Given the description of an element on the screen output the (x, y) to click on. 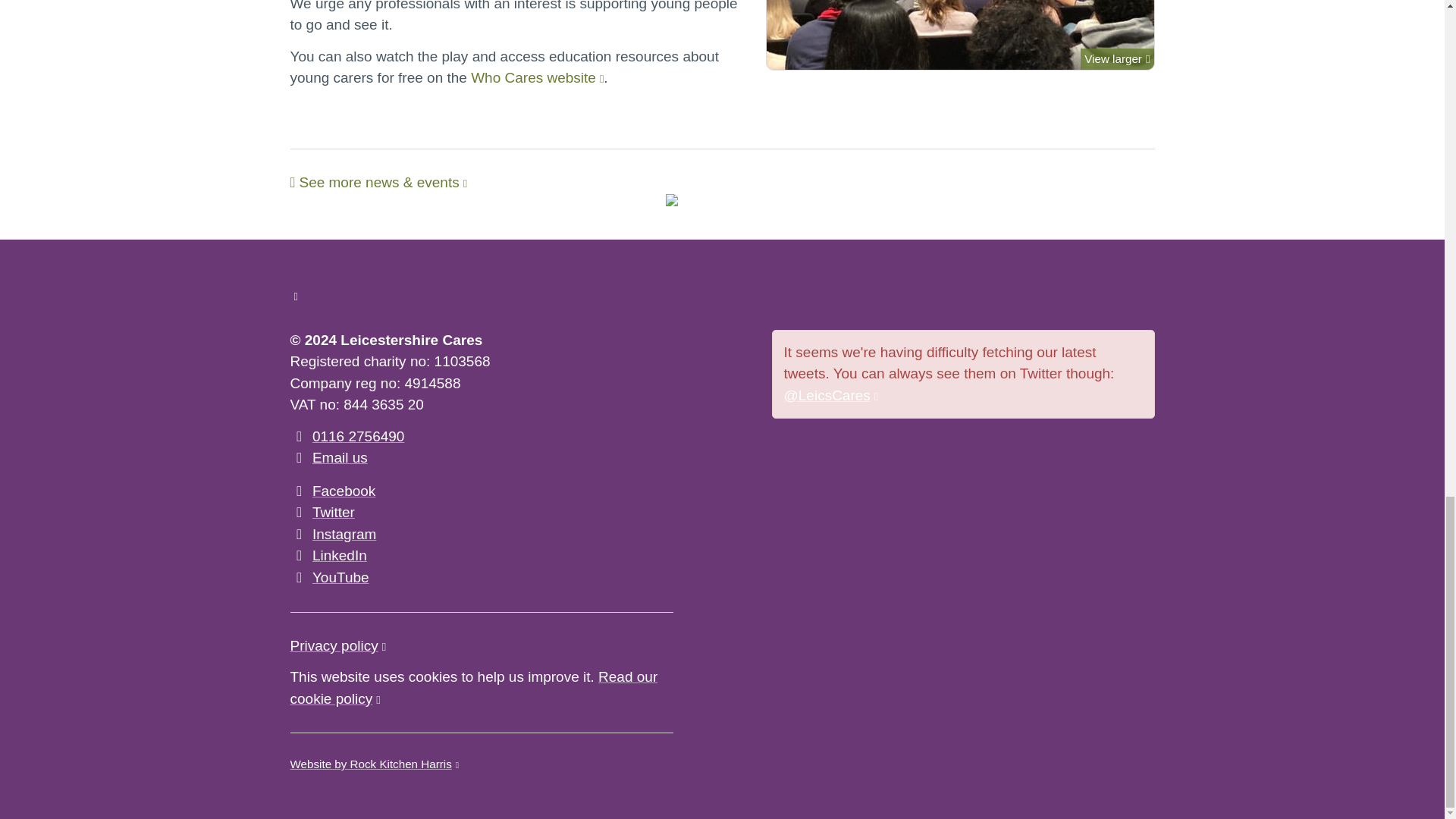
Web design and development, Leicester (373, 763)
